Given the description of an element on the screen output the (x, y) to click on. 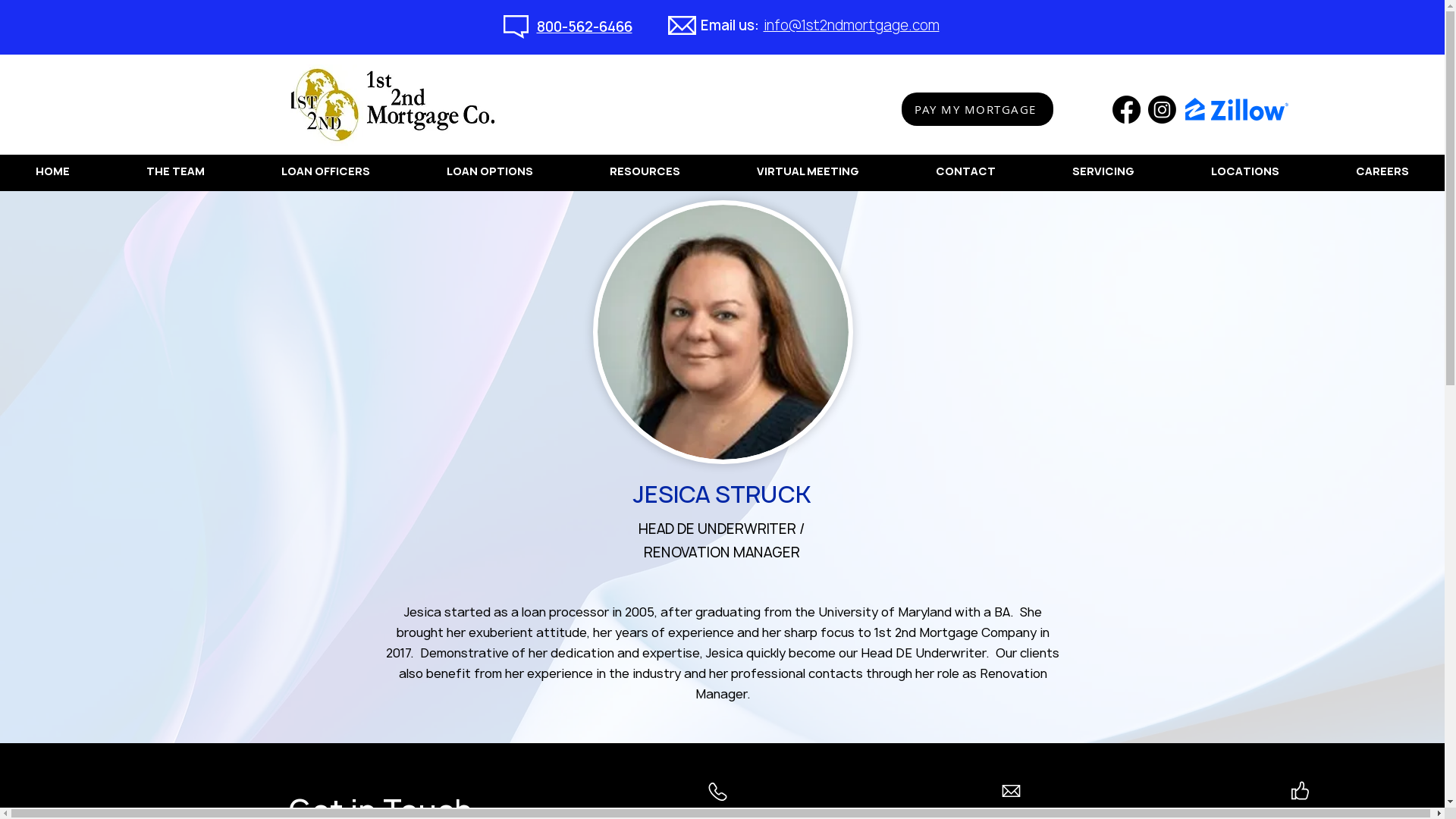
800-562-6466 Element type: text (584, 26)
CONTACT Element type: text (965, 172)
THE TEAM Element type: text (174, 172)
HOME Element type: text (52, 172)
TWIPLA (Visitor Analytics) Element type: hover (1441, 4)
RESOURCES Element type: text (644, 172)
SERVICING Element type: text (1103, 172)
info@1st2ndmortgage.com Element type: text (850, 25)
CAREERS Element type: text (1382, 172)
VIRTUAL MEETING Element type: text (807, 172)
PAY MY MORTGAGE Element type: text (976, 108)
LOCATIONS Element type: text (1245, 172)
LOAN OFFICERS Element type: text (324, 172)
LOAN OPTIONS Element type: text (489, 172)
